Given the description of an element on the screen output the (x, y) to click on. 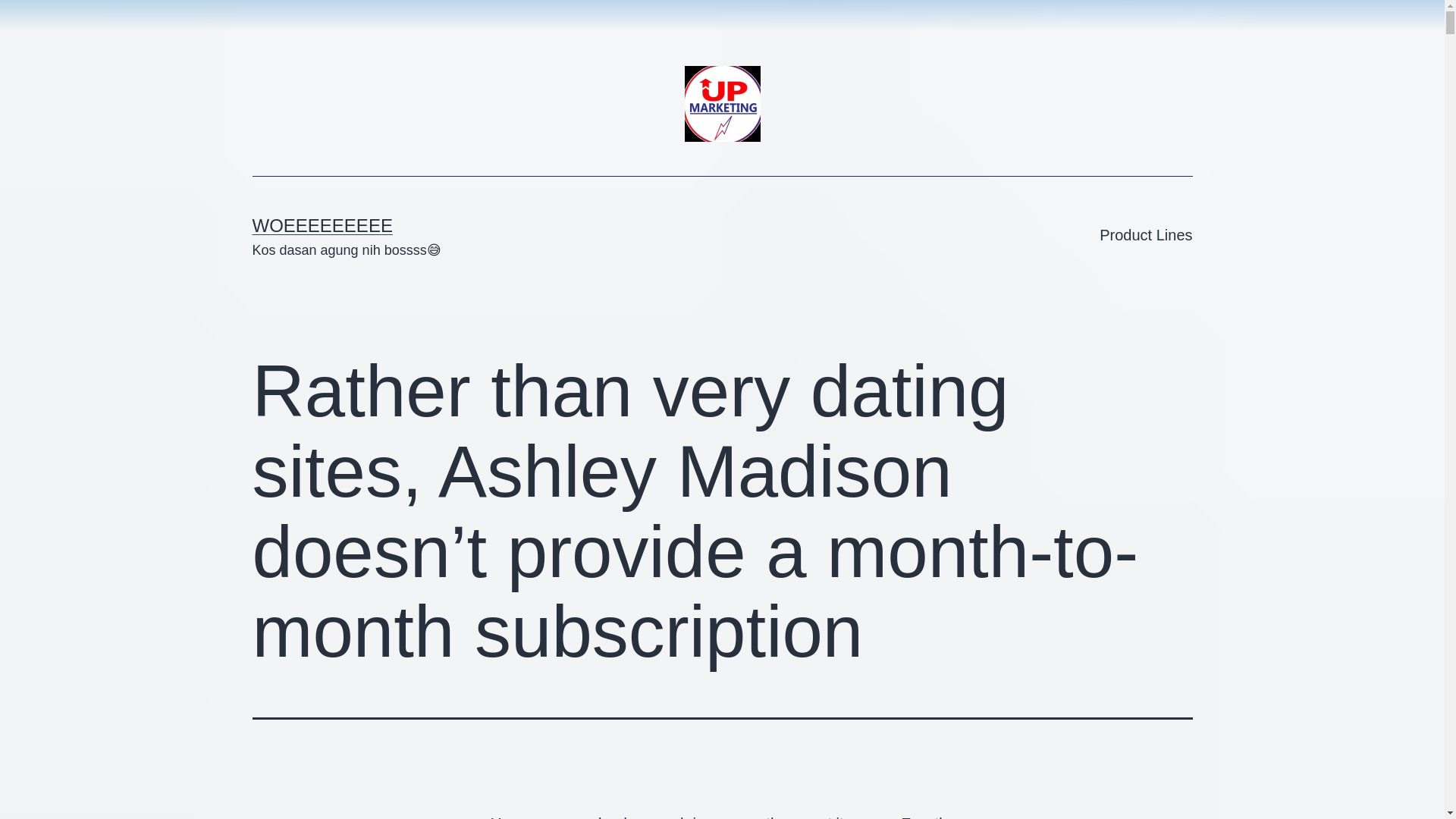
WOEEEEEEEEE (321, 225)
Product Lines (1145, 235)
